Given the description of an element on the screen output the (x, y) to click on. 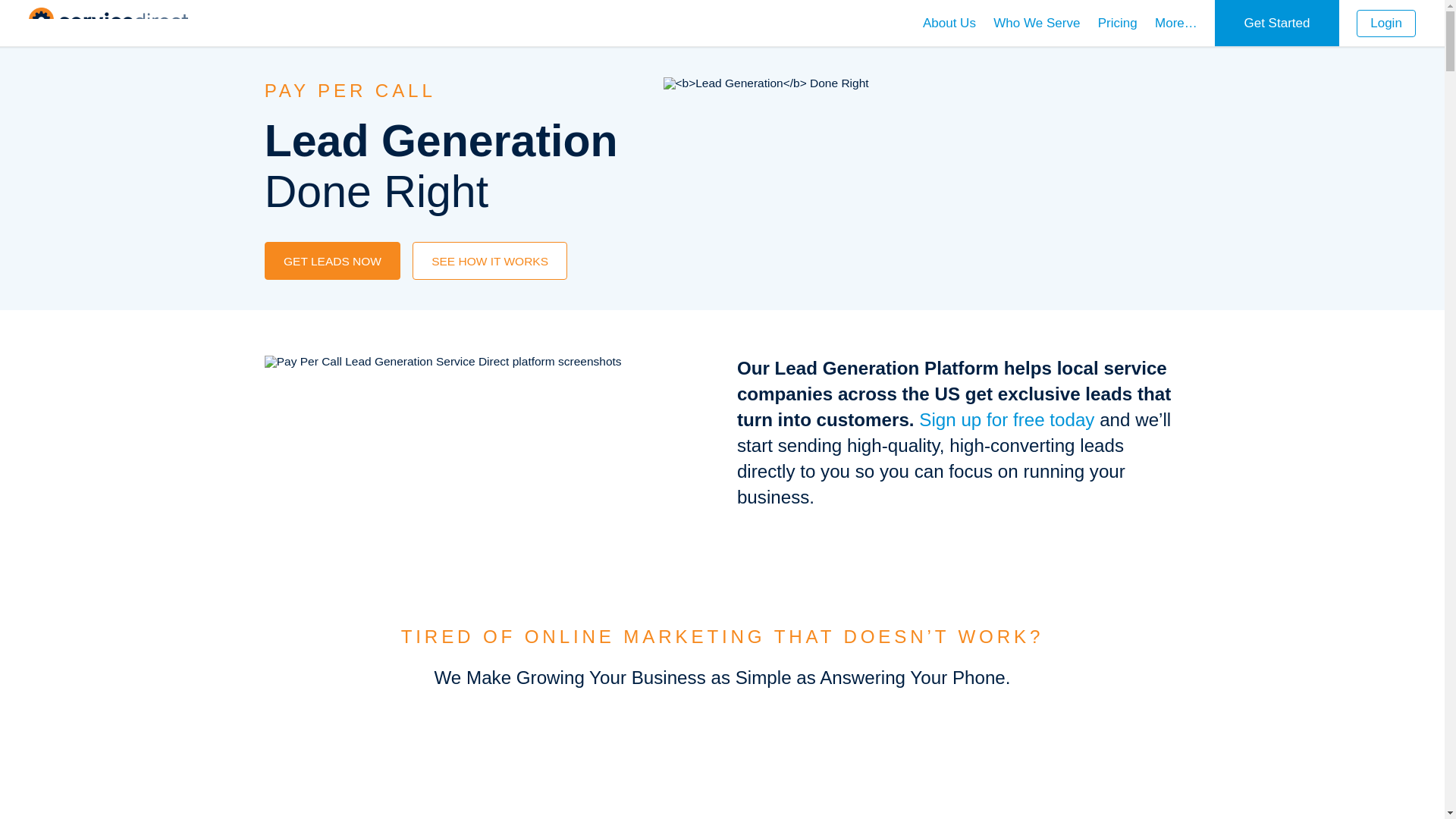
Login (1385, 22)
Who We Serve (1036, 22)
Sign up for free today (1006, 419)
GET LEADS NOW (332, 260)
SEE HOW IT WORKS (489, 260)
Get Started (1276, 22)
About Us (949, 22)
